Given the description of an element on the screen output the (x, y) to click on. 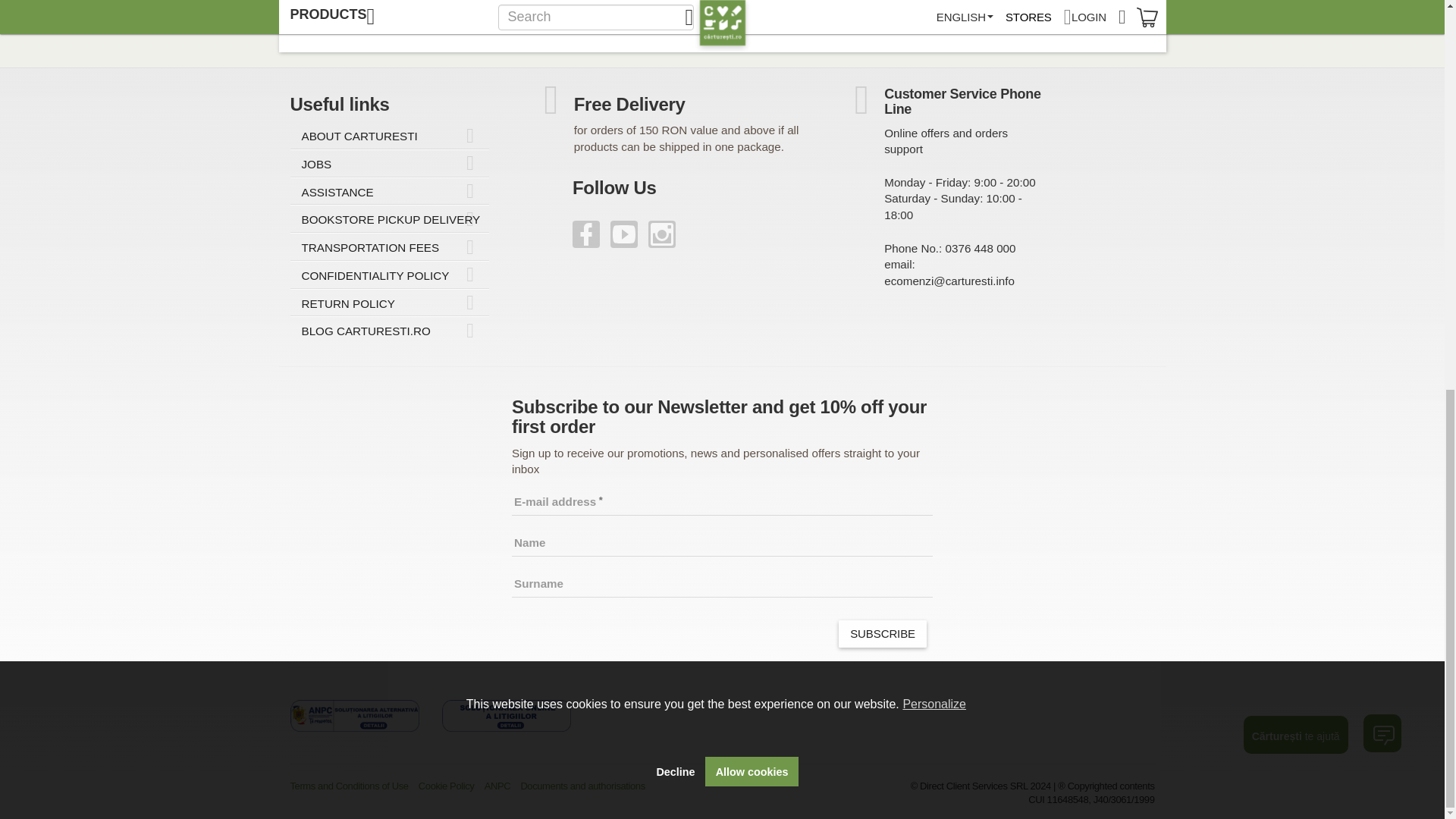
Allow cookies (750, 29)
Subscribe (882, 633)
Decline (675, 29)
